Given the description of an element on the screen output the (x, y) to click on. 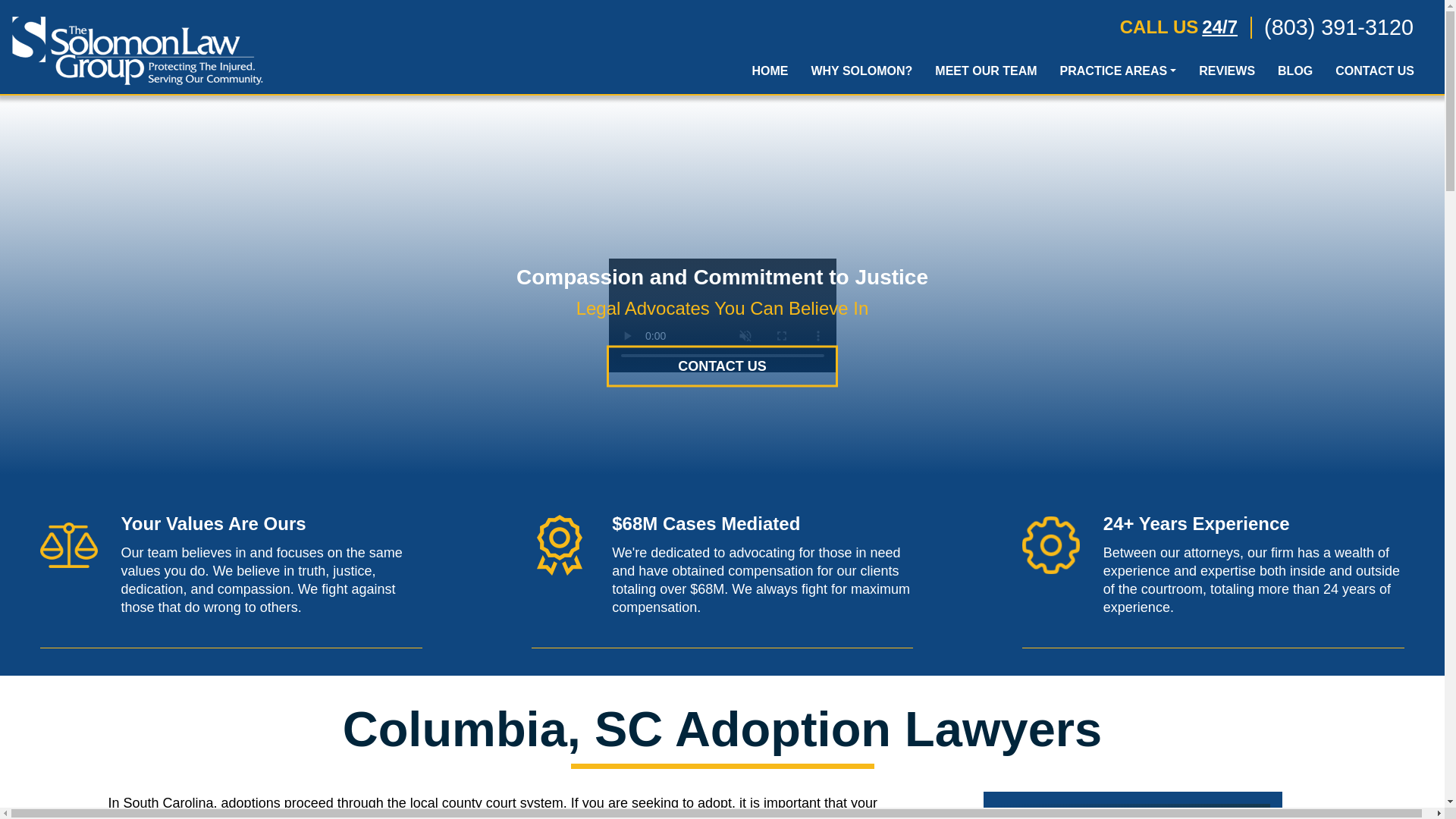
PRACTICE AREAS (1118, 74)
CONTACT US (1374, 74)
MEET OUR TEAM (985, 74)
BLOG (1294, 74)
CONTACT US (722, 365)
REVIEWS (1227, 74)
HOME (769, 74)
WHY SOLOMON? (861, 74)
